Given the description of an element on the screen output the (x, y) to click on. 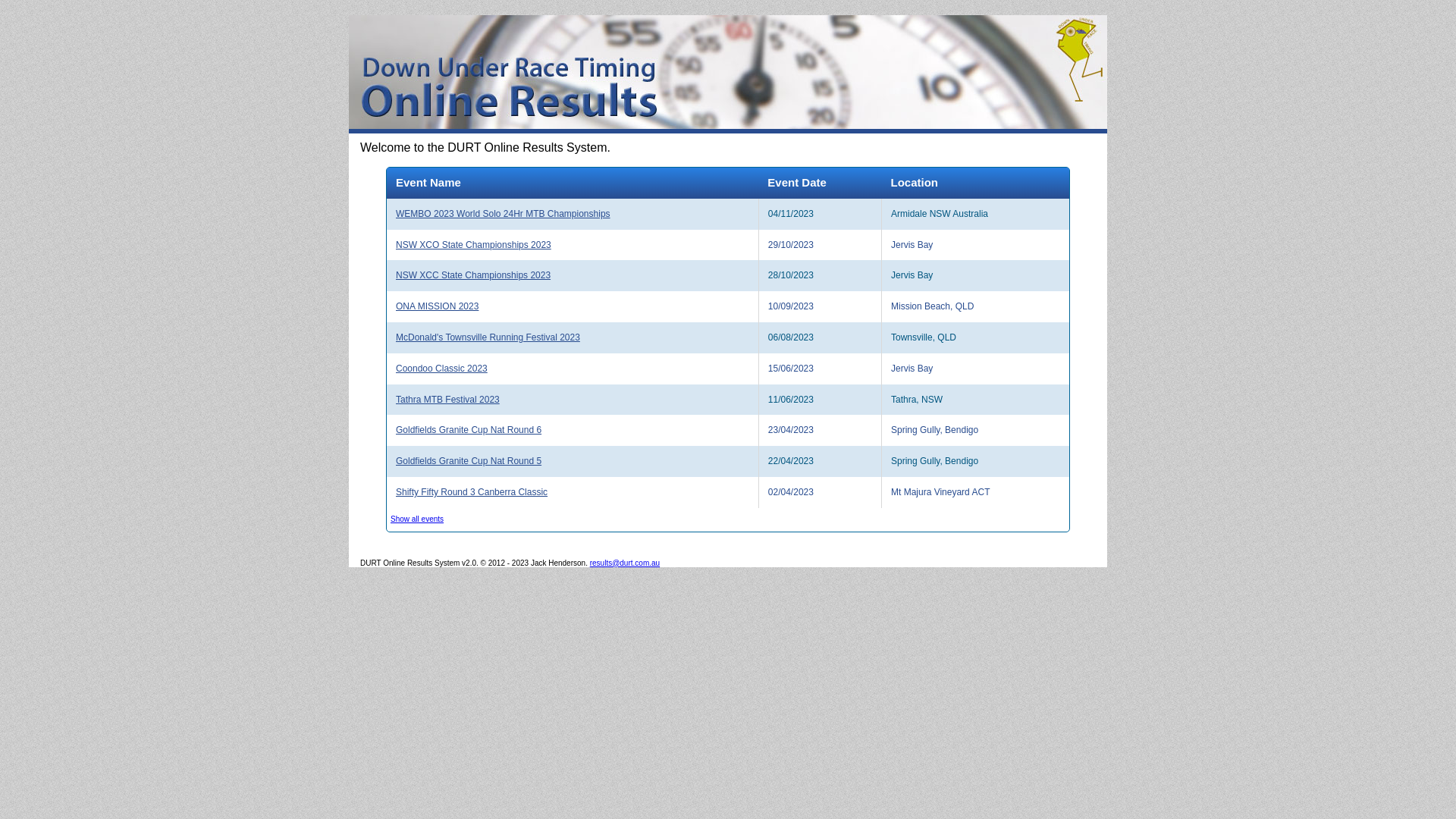
Tathra MTB Festival 2023 Element type: text (572, 399)
Coondoo Classic 2023 Element type: text (572, 368)
results@durt.com.au Element type: text (624, 562)
ONA MISSION 2023 Element type: text (572, 306)
WEMBO 2023 World Solo 24Hr MTB Championships Element type: text (572, 214)
McDonald's Townsville Running Festival 2023 Element type: text (572, 337)
Goldfields Granite Cup Nat Round 6 Element type: text (572, 430)
Shifty Fifty Round 3 Canberra Classic Element type: text (572, 492)
NSW XCC State Championships 2023 Element type: text (572, 275)
NSW XCO State Championships 2023 Element type: text (572, 245)
Goldfields Granite Cup Nat Round 5 Element type: text (572, 461)
Show all events Element type: text (416, 518)
